Given the description of an element on the screen output the (x, y) to click on. 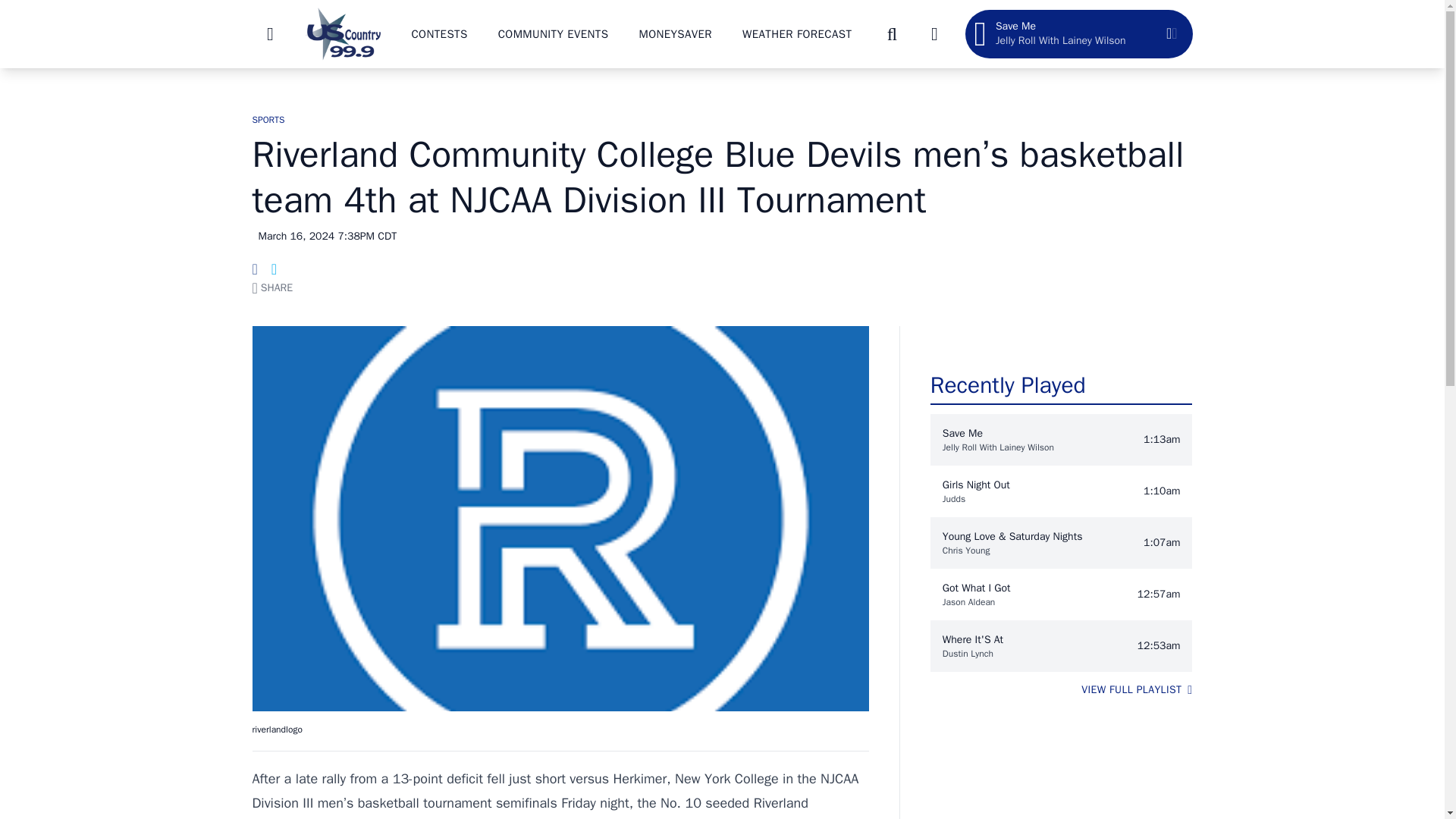
MONEYSAVER (675, 33)
WEATHER FORECAST (796, 33)
COMMUNITY EVENTS (552, 33)
